Given the description of an element on the screen output the (x, y) to click on. 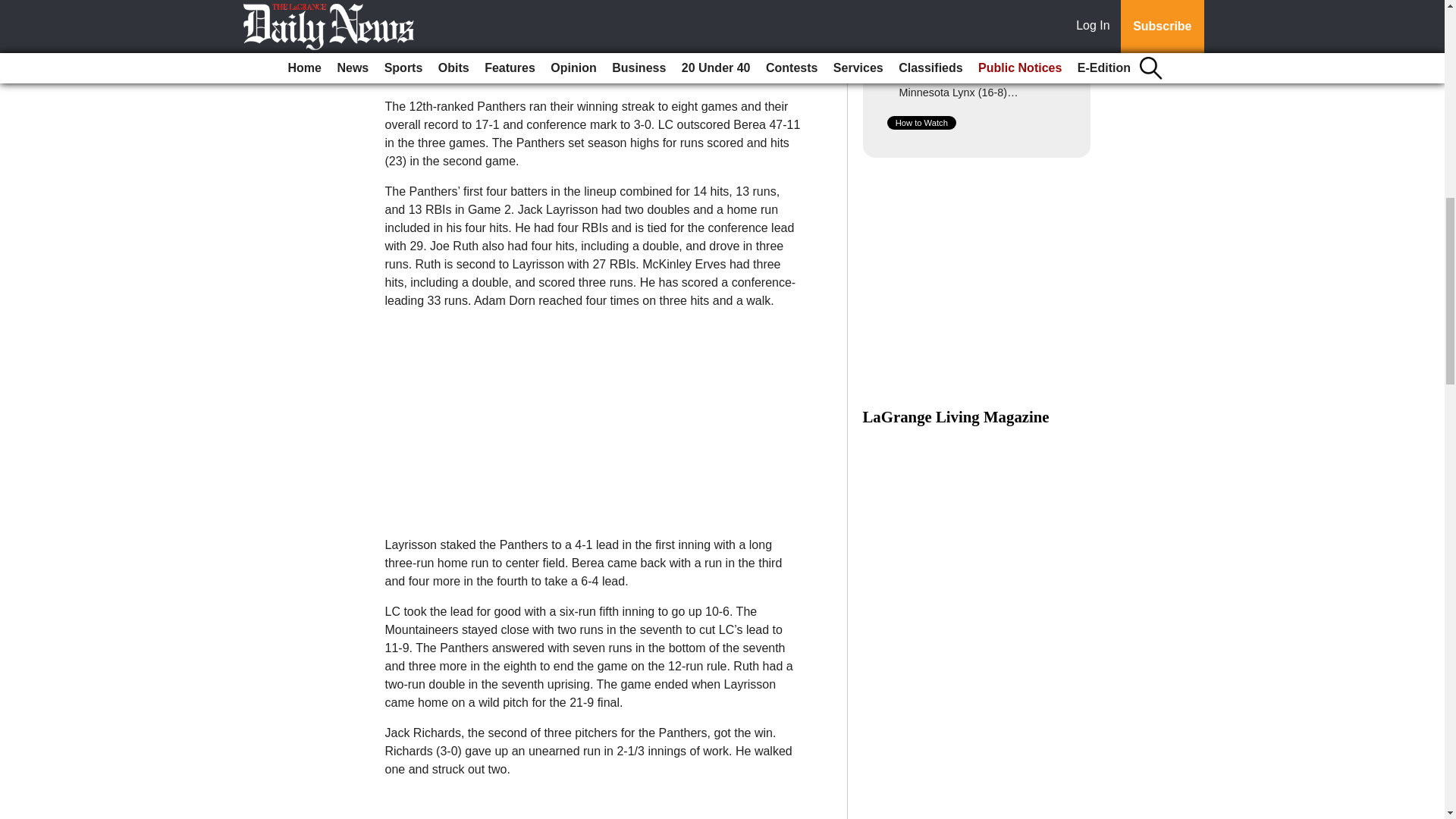
How to Watch (921, 122)
